Given the description of an element on the screen output the (x, y) to click on. 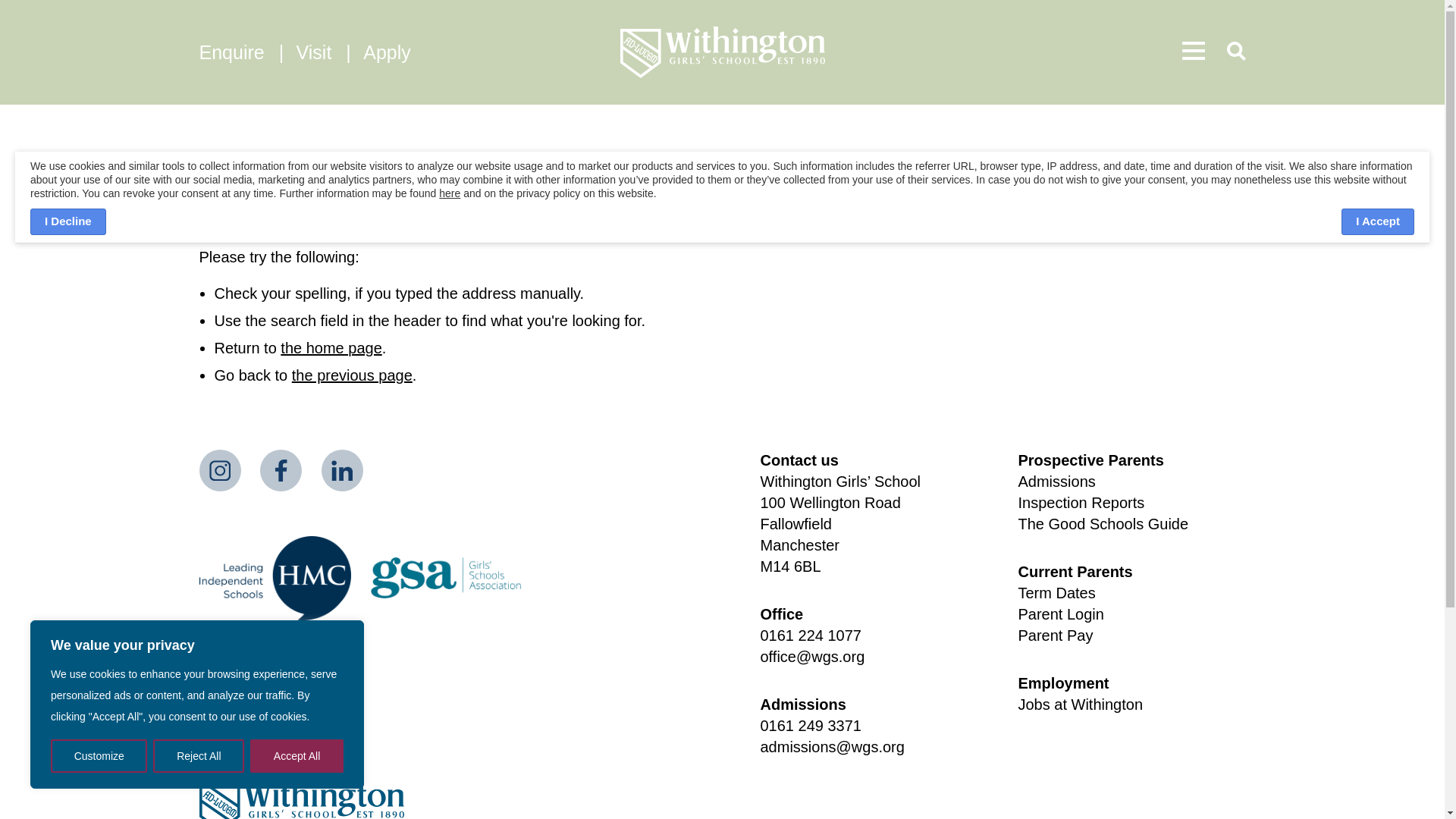
Customize (98, 756)
Reject All (198, 756)
Visit (317, 51)
here (449, 193)
Apply (386, 51)
I Accept (1376, 221)
I Decline (68, 221)
Enquire (233, 51)
Visit (317, 51)
Accept All (296, 756)
